Given the description of an element on the screen output the (x, y) to click on. 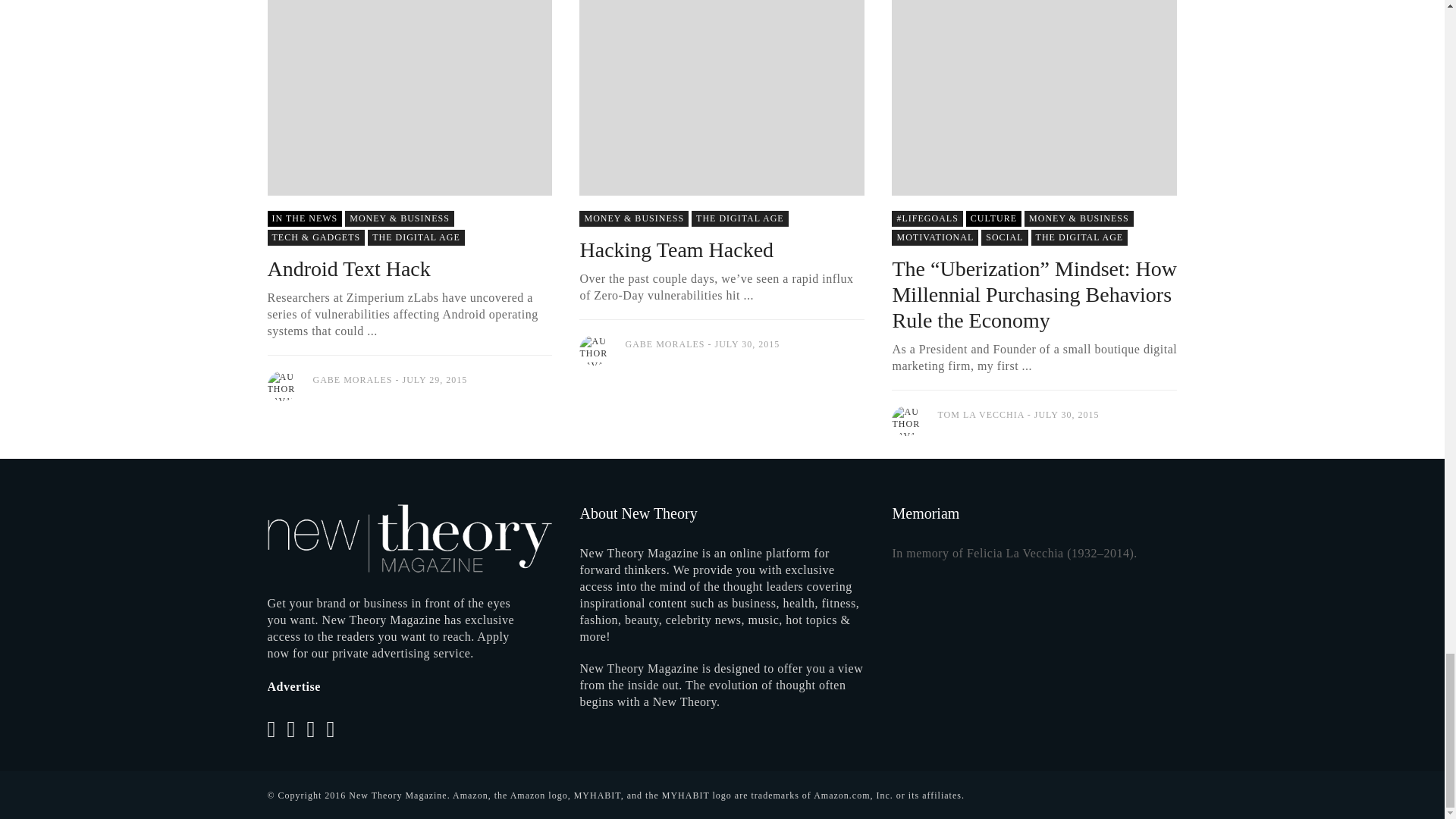
View all posts in 144 (633, 218)
View all posts in 154 (934, 237)
View all posts in 144 (399, 218)
View all posts in 145 (1004, 237)
View all posts in 152 (1079, 237)
View all posts in 143 (926, 218)
View all posts in 158 (994, 218)
View all posts in 152 (740, 218)
View all posts in 144 (1079, 218)
View all posts in 153 (304, 218)
